Given the description of an element on the screen output the (x, y) to click on. 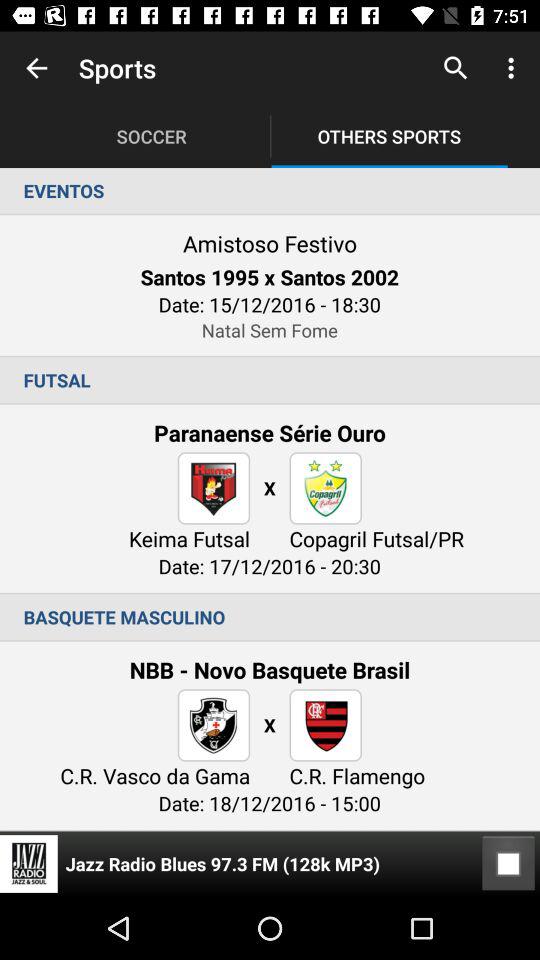
tap the icon above eventos icon (36, 68)
